Given the description of an element on the screen output the (x, y) to click on. 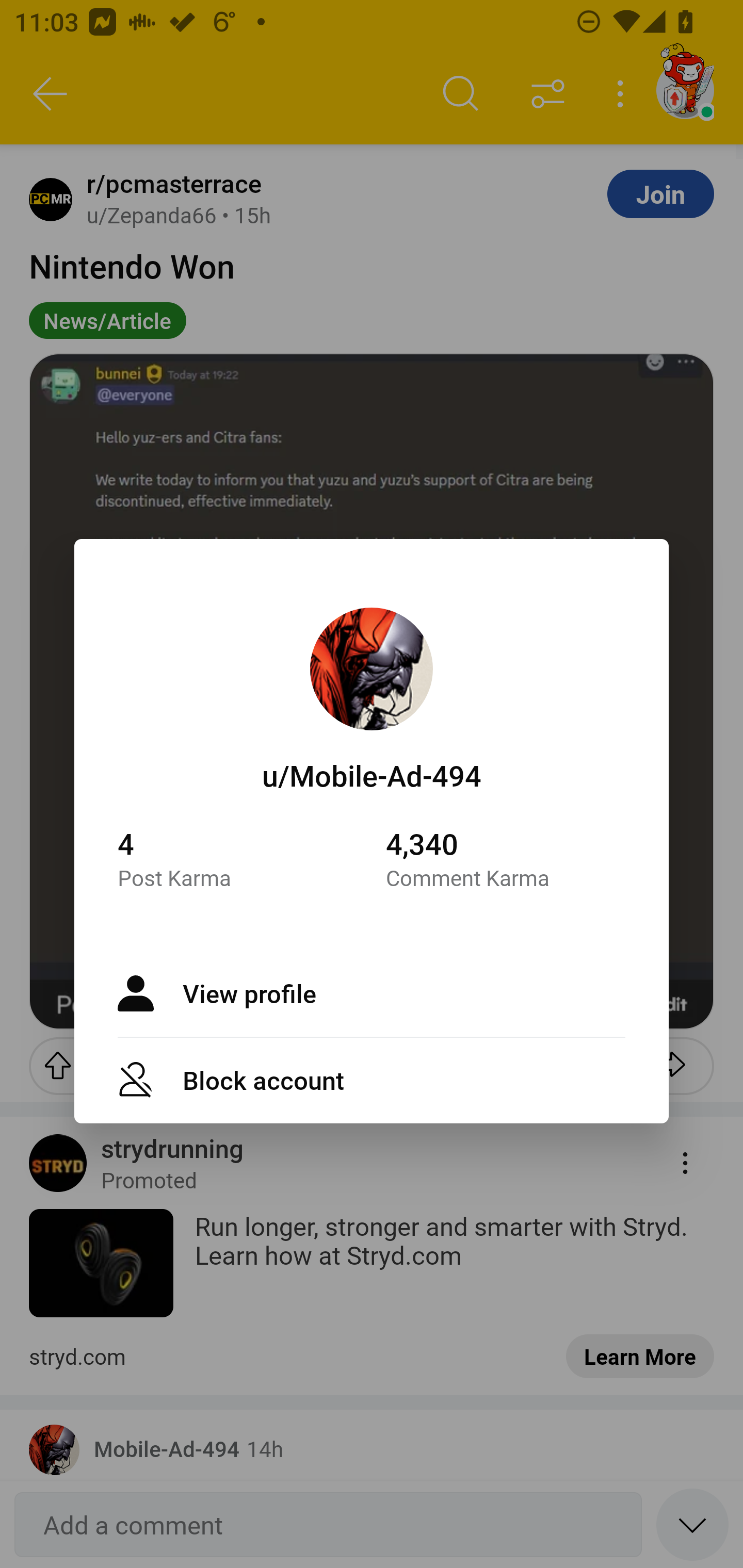
u/Mobile-Ad-494 (371, 774)
View profile (371, 993)
Block account (371, 1079)
